Given the description of an element on the screen output the (x, y) to click on. 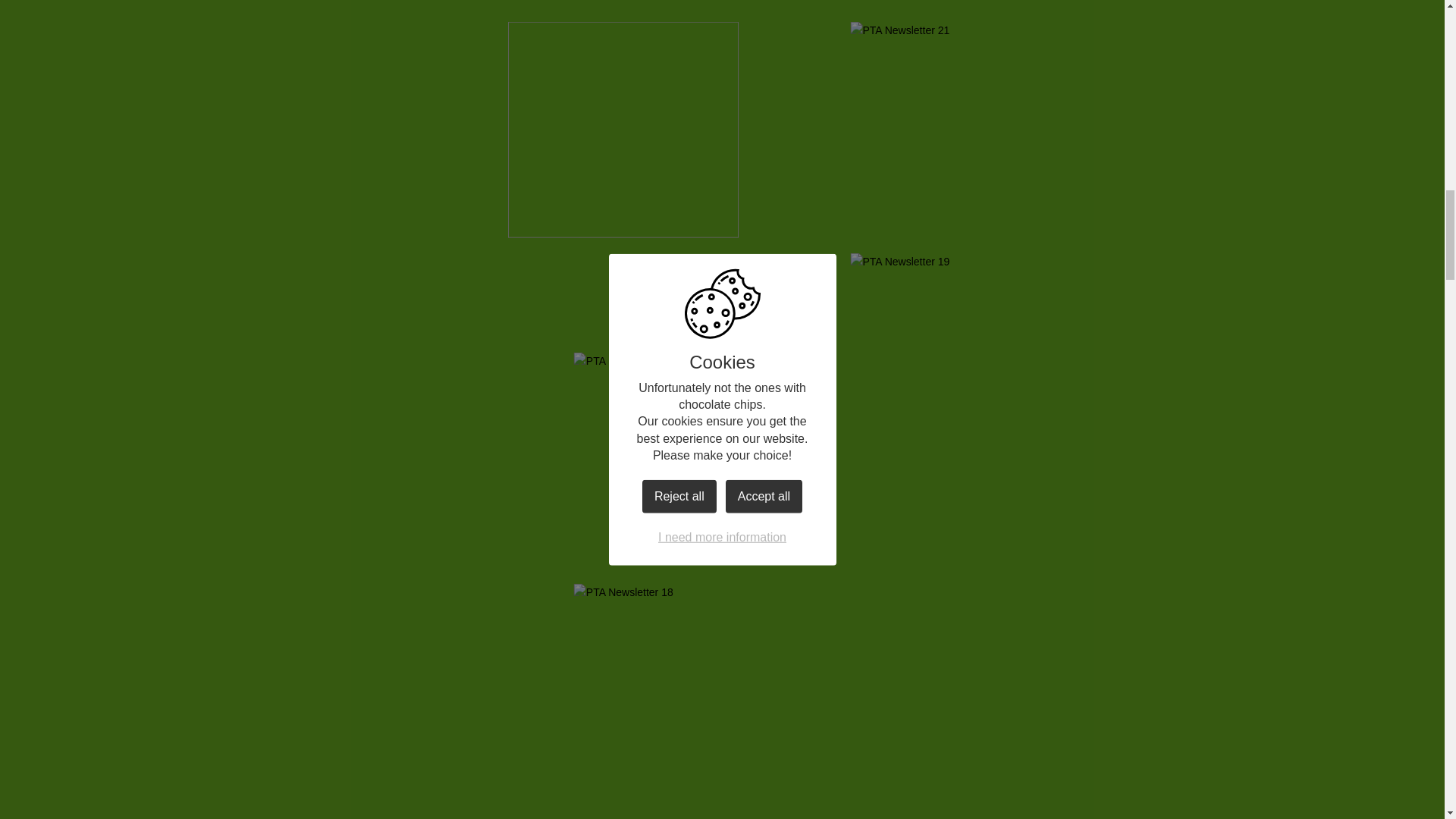
View large version of image (926, 361)
View large version of image (926, 130)
View large version of image (623, 3)
View large version of image (623, 592)
View large version of image (926, 766)
View large version of image (926, 592)
View large version of image (623, 361)
View large version of image (926, 3)
View large version of image (623, 766)
View large version of image (623, 130)
